Given the description of an element on the screen output the (x, y) to click on. 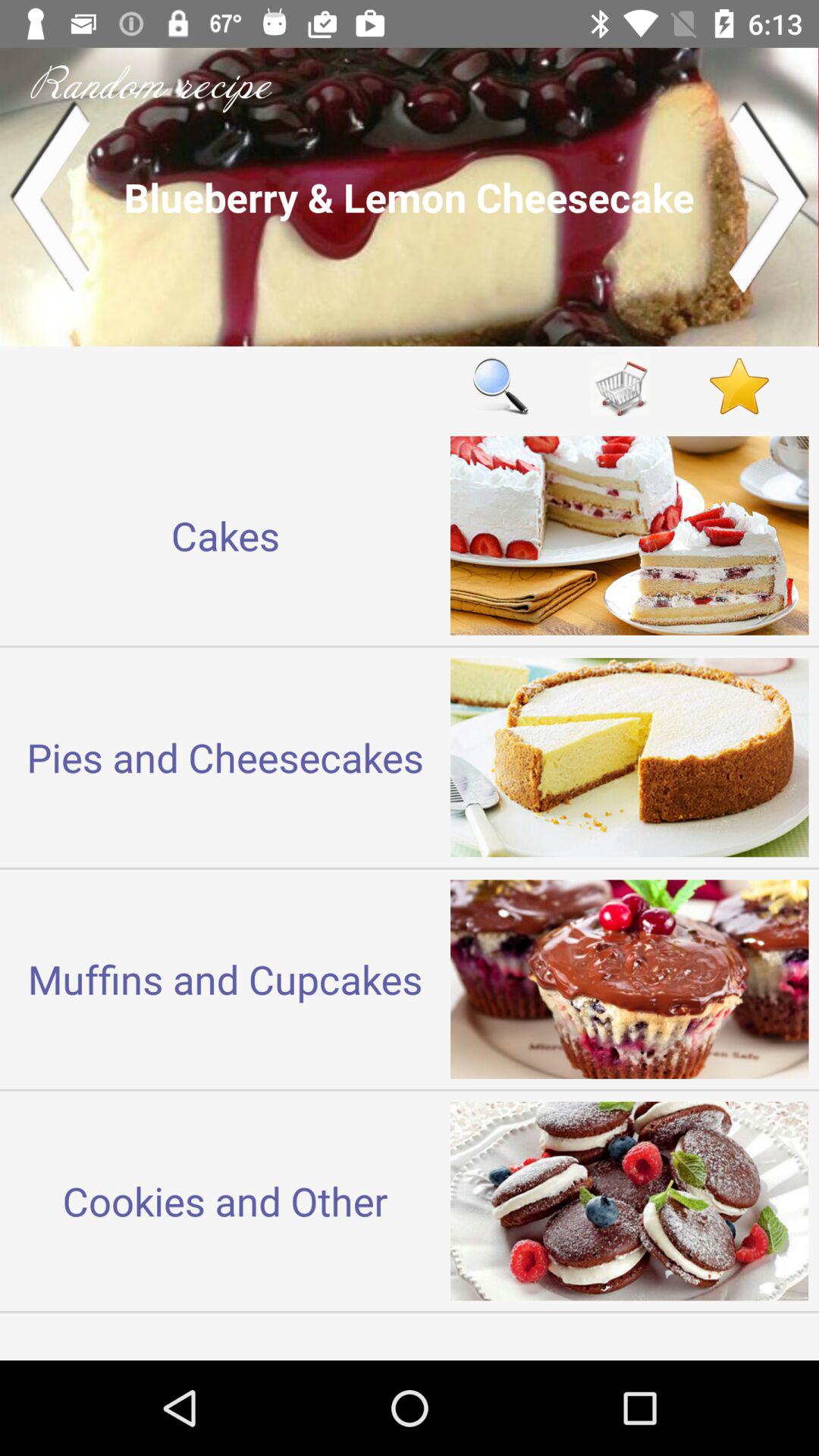
favorite the content (739, 385)
